Given the description of an element on the screen output the (x, y) to click on. 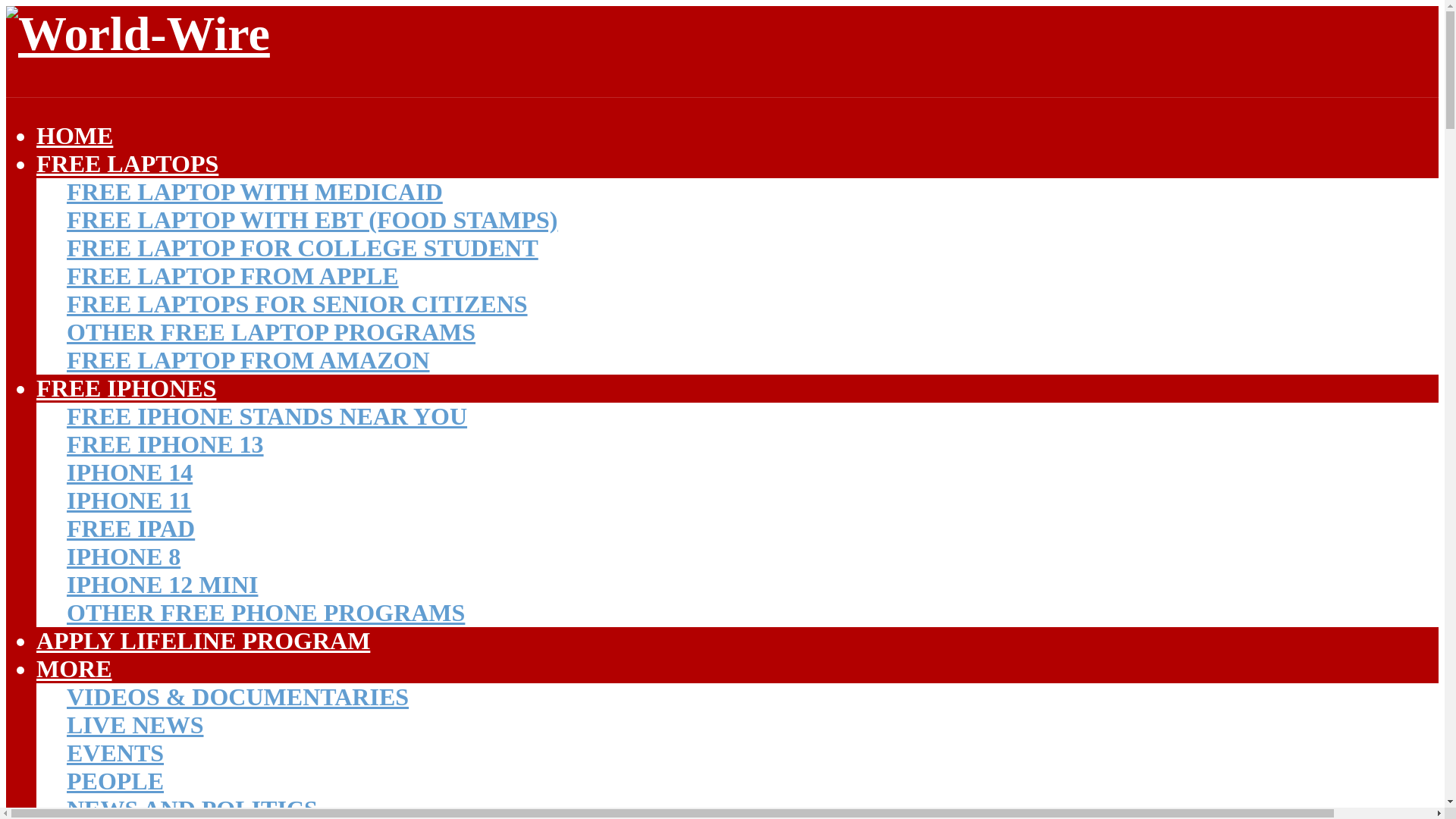
IPHONE 11 (128, 500)
PEOPLE (114, 780)
APPLY LIFELINE PROGRAM (202, 640)
FREE LAPTOP FROM APPLE (232, 275)
OTHER FREE LAPTOP PROGRAMS (271, 331)
HOME (74, 135)
FREE LAPTOP WITH MEDICAID (254, 191)
LIVE NEWS (134, 724)
FREE IPHONE 13 (164, 443)
FREE LAPTOPS FOR SENIOR CITIZENS (296, 303)
